Given the description of an element on the screen output the (x, y) to click on. 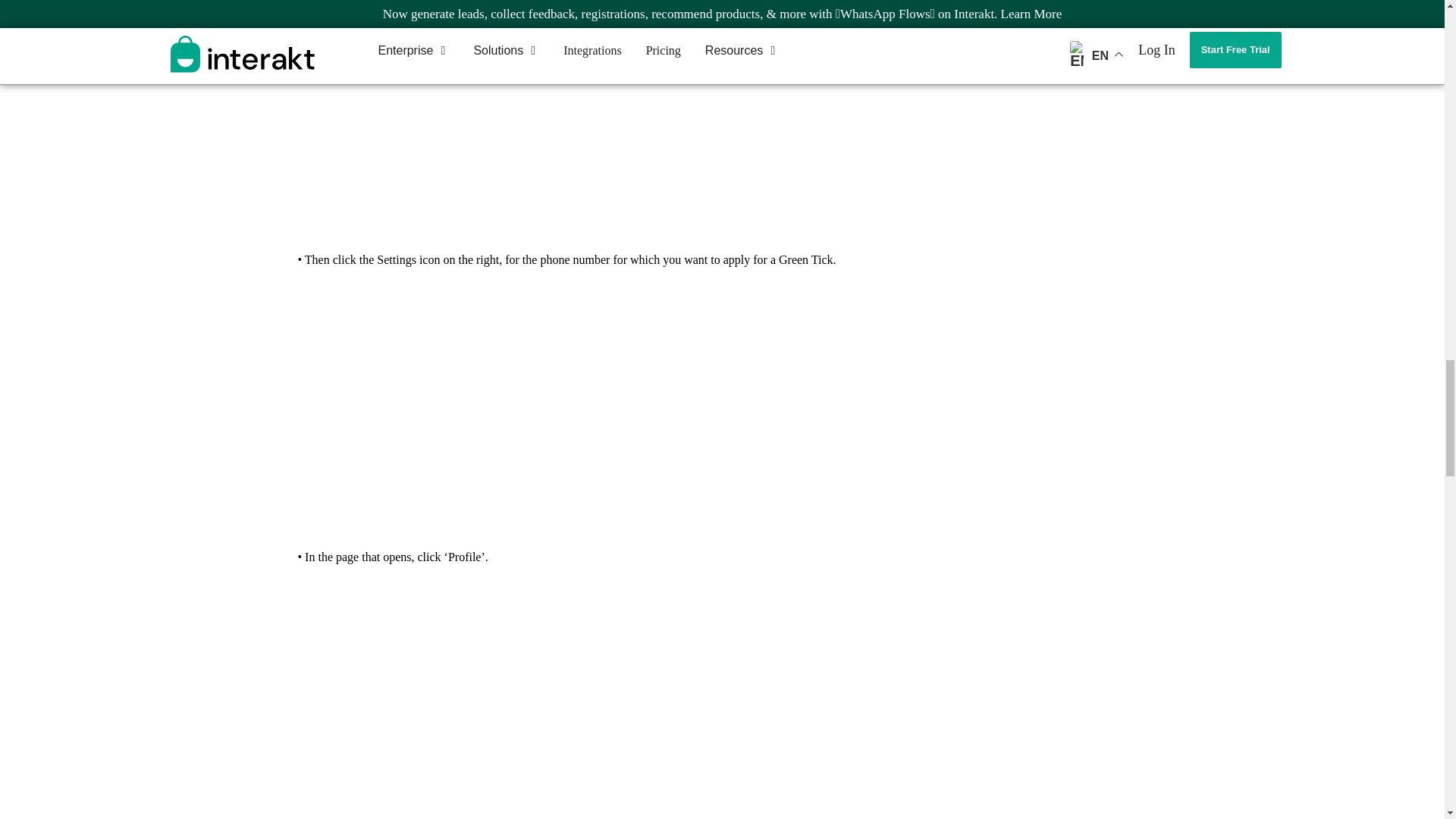
All about Green Tick 6 (721, 117)
All about Green Tick 7 (721, 408)
All about Green Tick 8 (721, 700)
